Given the description of an element on the screen output the (x, y) to click on. 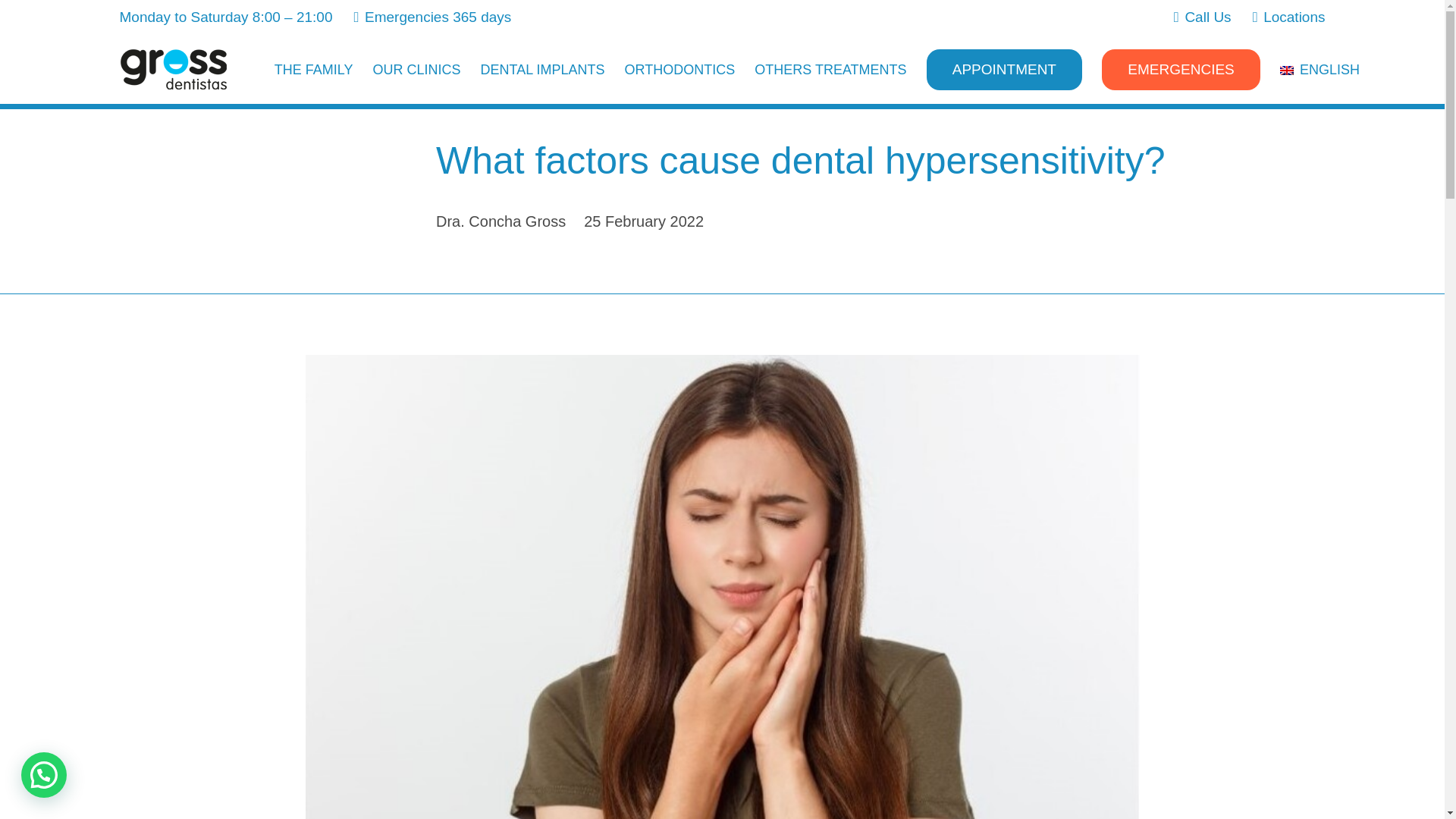
ORTHODONTICS (679, 69)
ENGLISH (1319, 69)
Emergencies 365 days (432, 17)
DENTAL IMPLANTS (542, 69)
OTHERS TREATMENTS (829, 69)
EMERGENCIES (1181, 69)
Call Us (1202, 17)
THE FAMILY (313, 69)
OUR CLINICS (416, 69)
English (1319, 69)
